Given the description of an element on the screen output the (x, y) to click on. 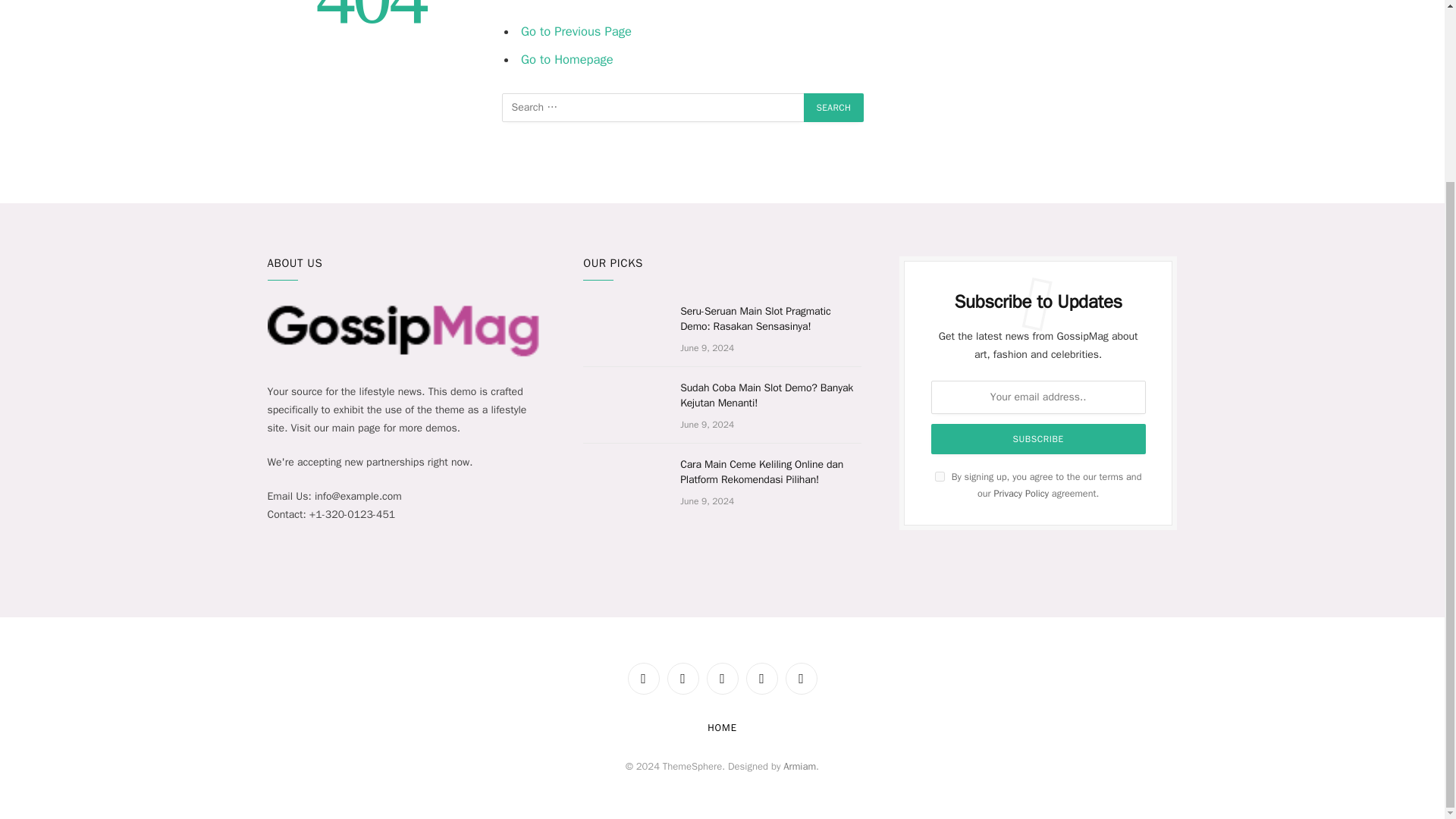
HOME (721, 727)
Twitter (682, 678)
on (939, 476)
Subscribe (1038, 439)
Subscribe (1038, 439)
TikTok (801, 678)
Sudah Coba Main Slot Demo? Banyak Kejutan Menanti! (770, 395)
Armiam (799, 766)
Facebook (643, 678)
